Given the description of an element on the screen output the (x, y) to click on. 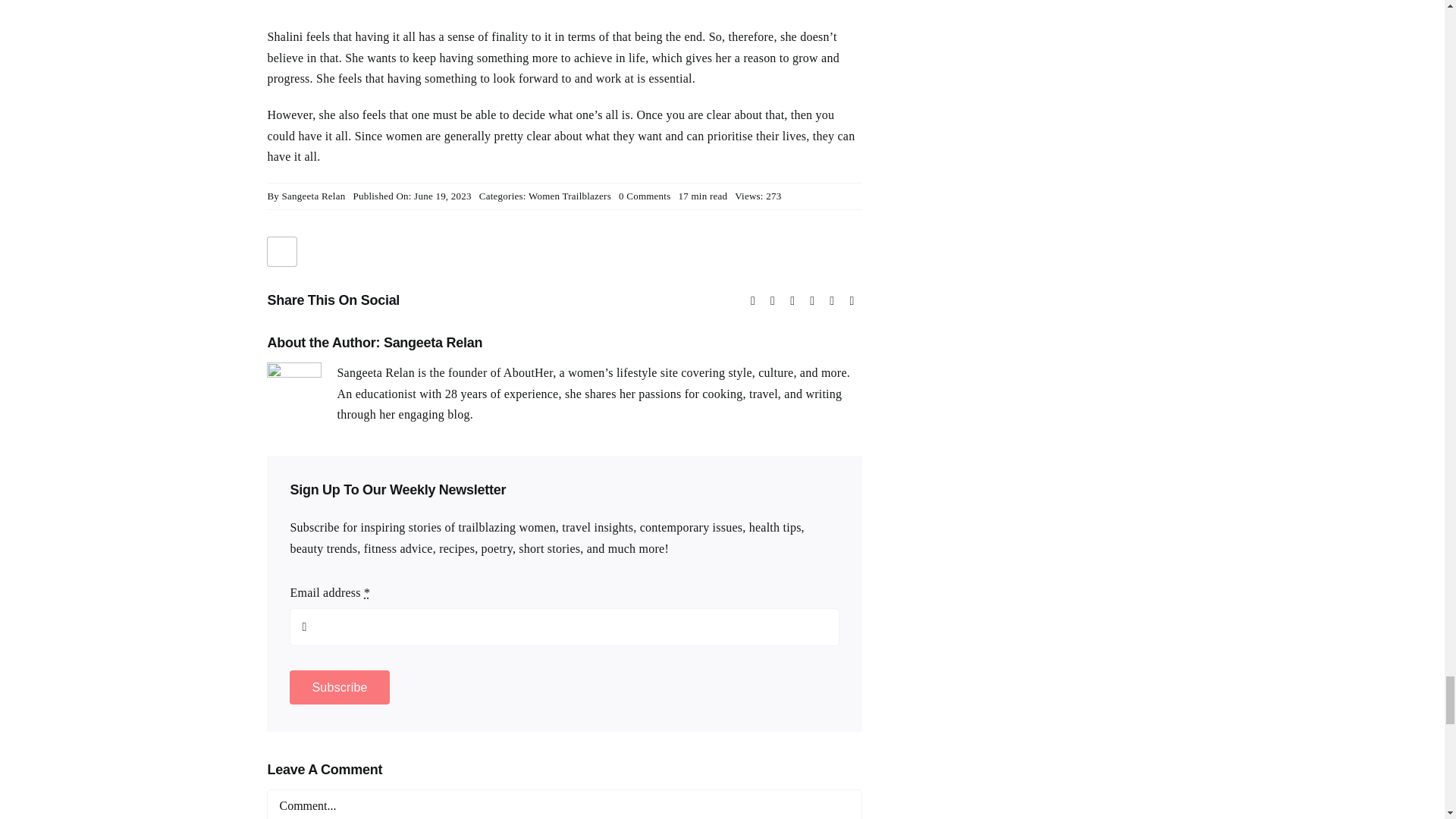
WhatsApp (812, 301)
X (772, 301)
Facebook (752, 301)
Telegram (831, 301)
Pinterest (851, 301)
LinkedIn (792, 301)
Posts by Sangeeta Relan (314, 195)
